Given the description of an element on the screen output the (x, y) to click on. 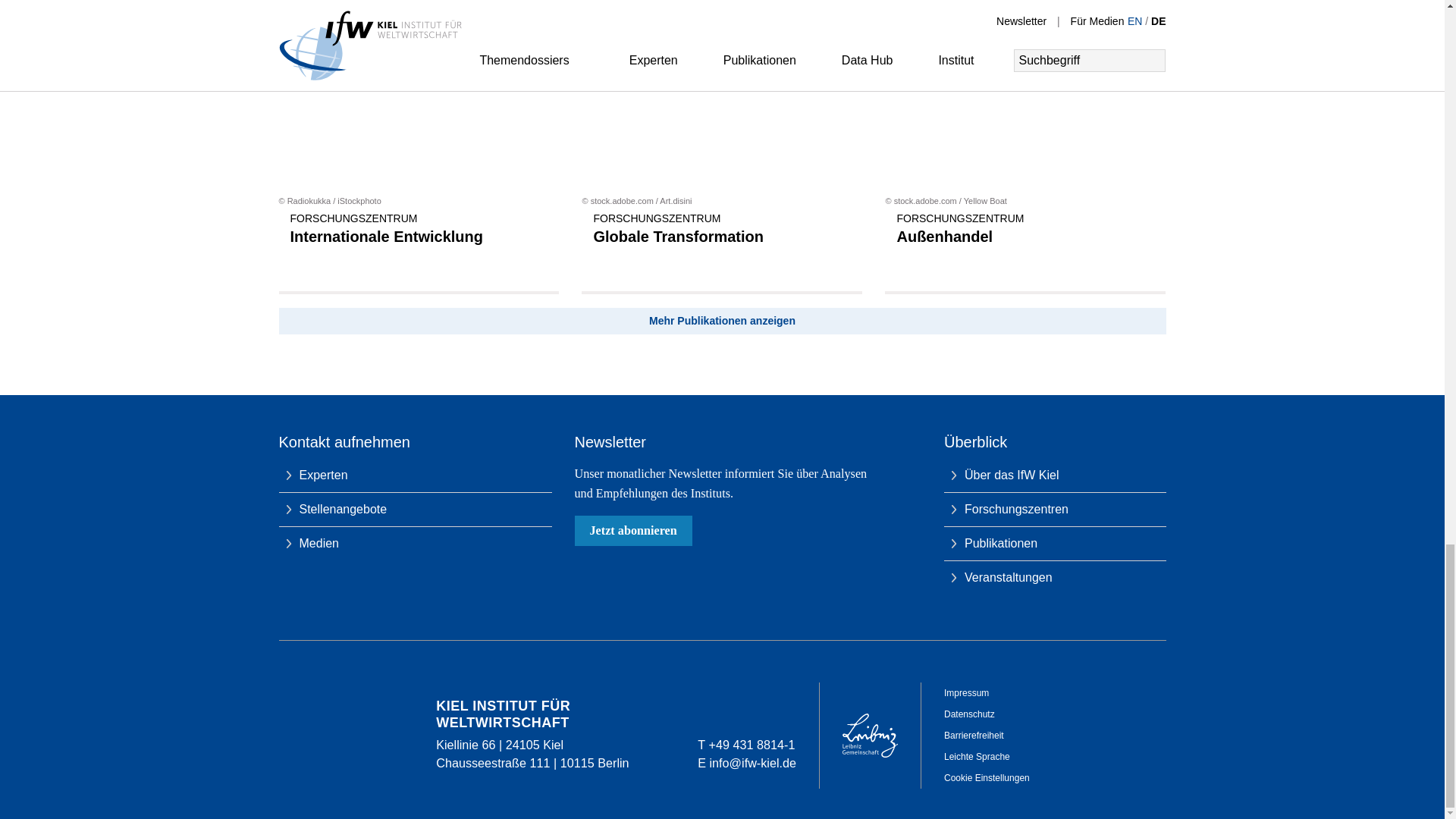
nach oben (1147, 394)
